Given the description of an element on the screen output the (x, y) to click on. 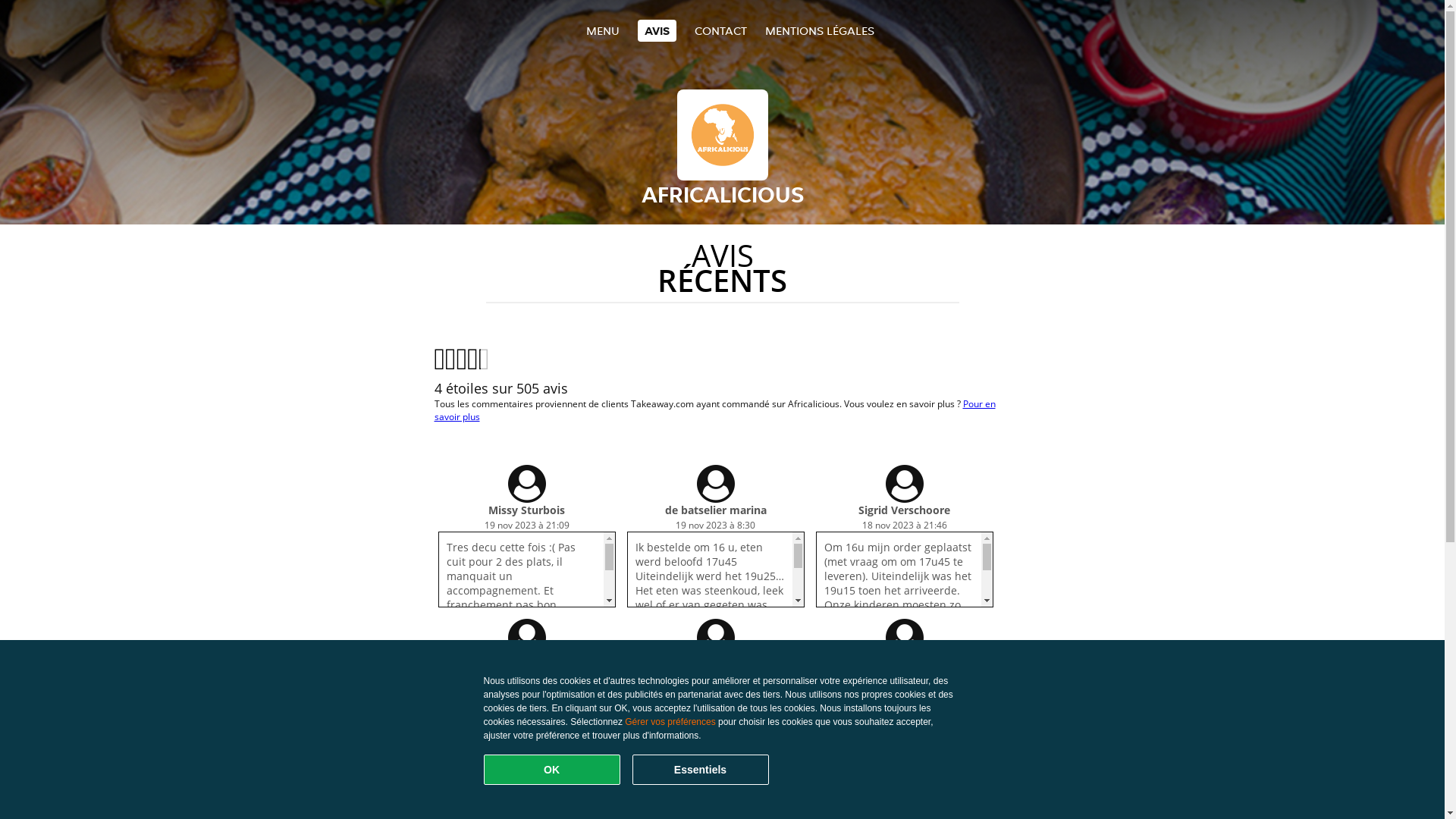
CONTACT Element type: text (720, 30)
Essentiels Element type: text (700, 769)
Pour en savoir plus Element type: text (713, 410)
MENU Element type: text (601, 30)
AVIS Element type: text (656, 30)
OK Element type: text (551, 769)
